Given the description of an element on the screen output the (x, y) to click on. 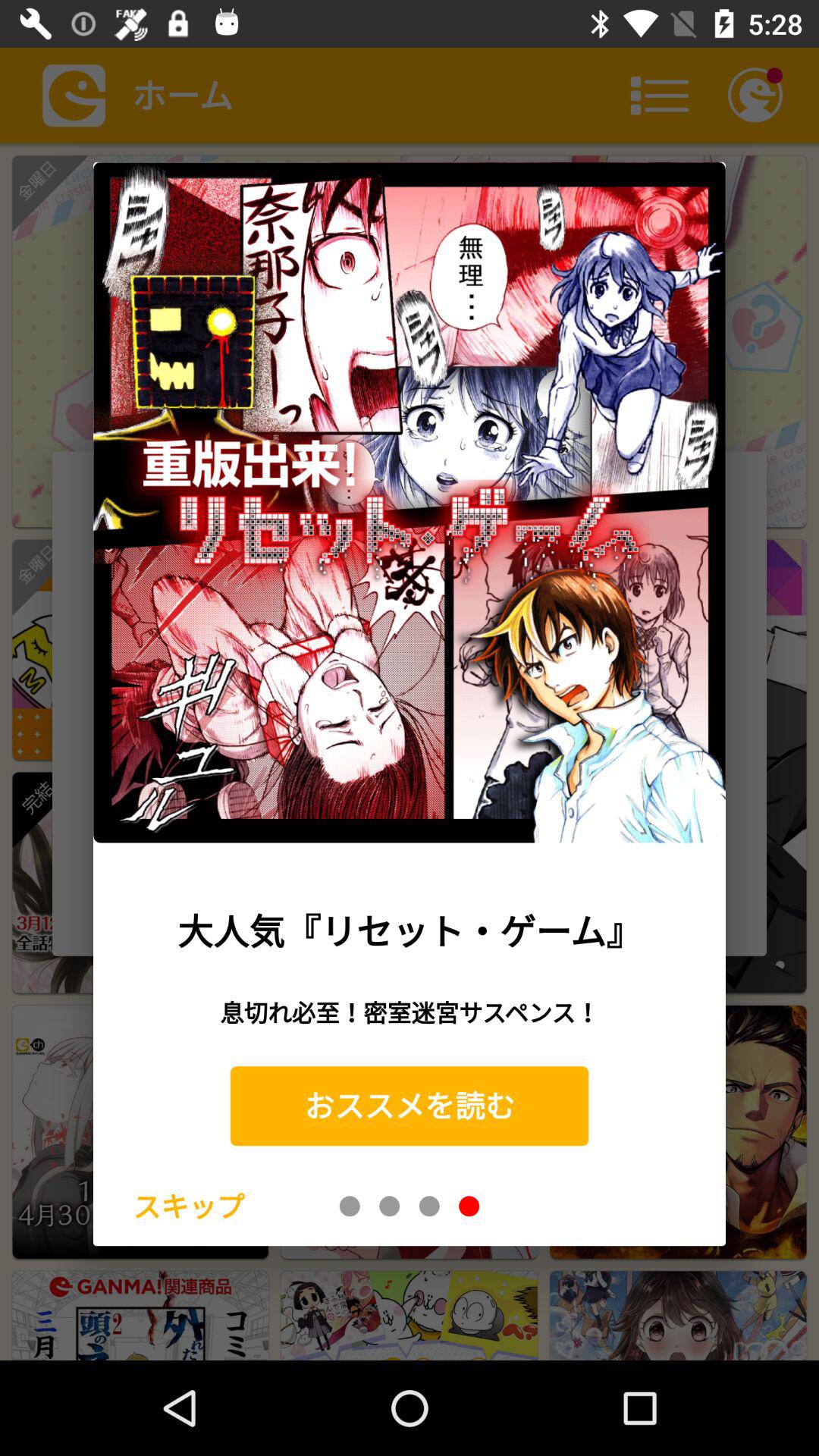
go to page two (389, 1206)
